Given the description of an element on the screen output the (x, y) to click on. 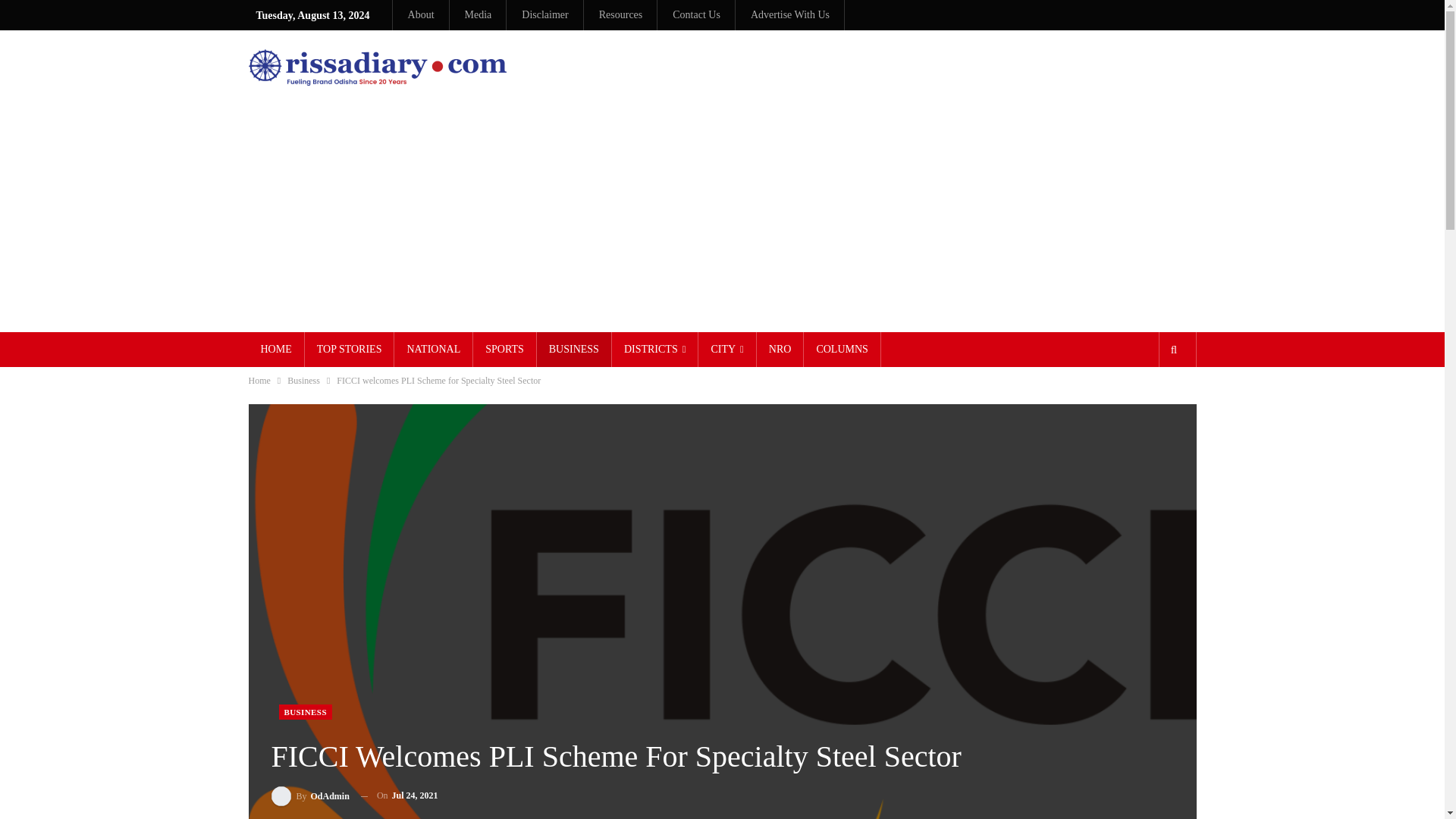
DISTRICTS (654, 349)
HOME (276, 349)
Media (478, 14)
Advertise With Us (790, 14)
TOP STORIES (349, 349)
BUSINESS (574, 349)
NATIONAL (432, 349)
Disclaimer (544, 14)
